Given the description of an element on the screen output the (x, y) to click on. 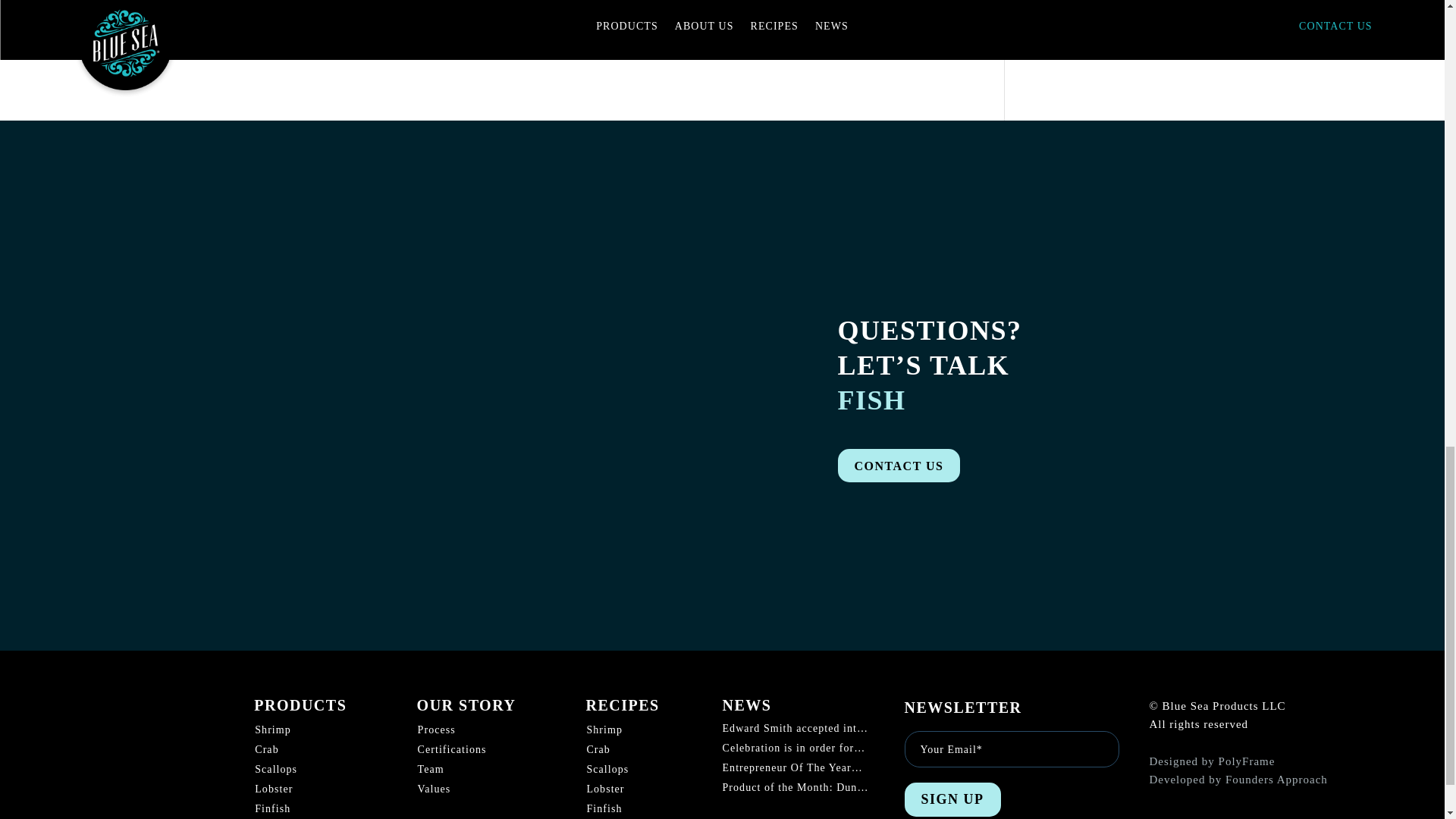
SIGN UP (952, 799)
